Given the description of an element on the screen output the (x, y) to click on. 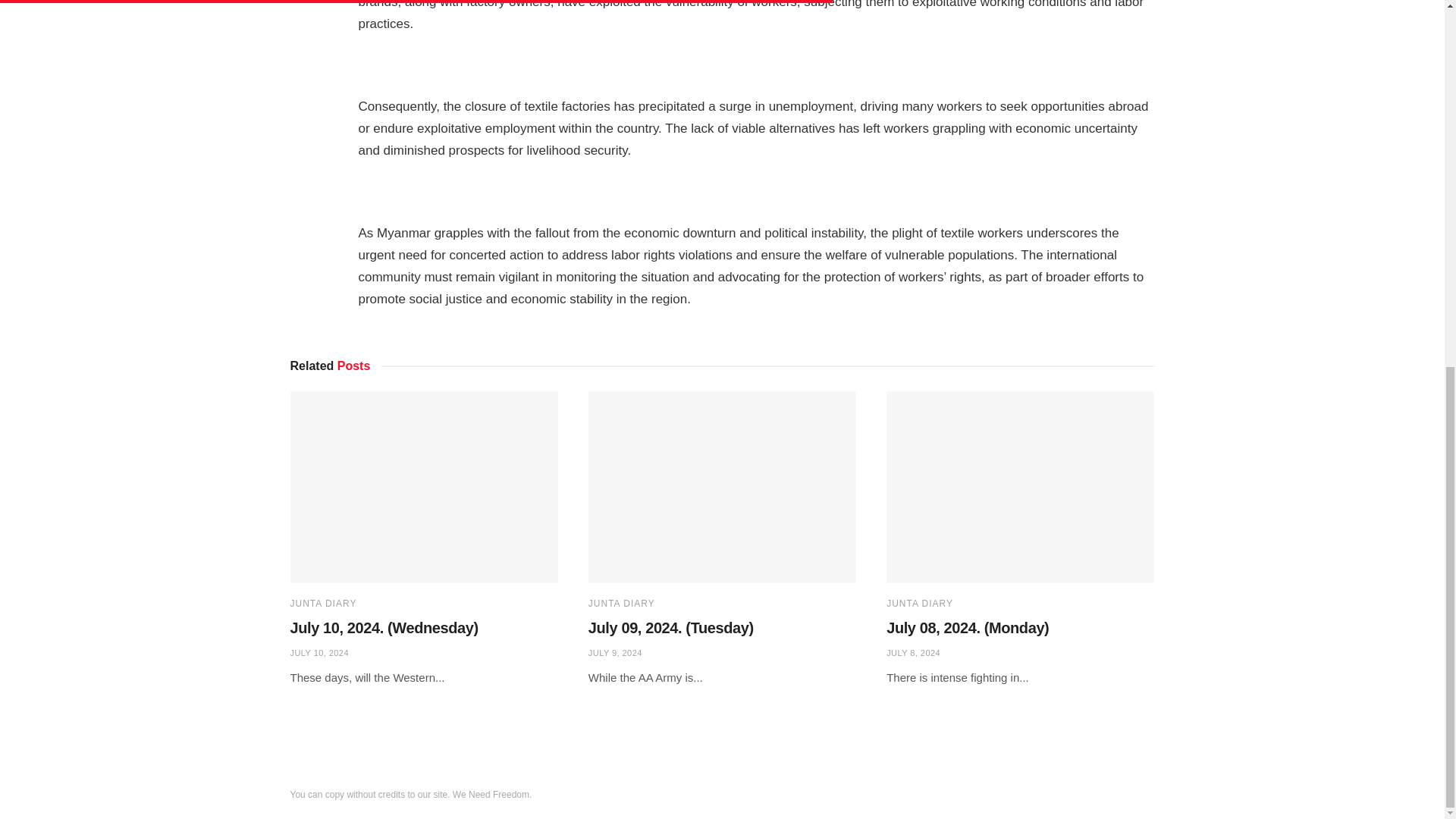
JUNTA DIARY (322, 603)
